Given the description of an element on the screen output the (x, y) to click on. 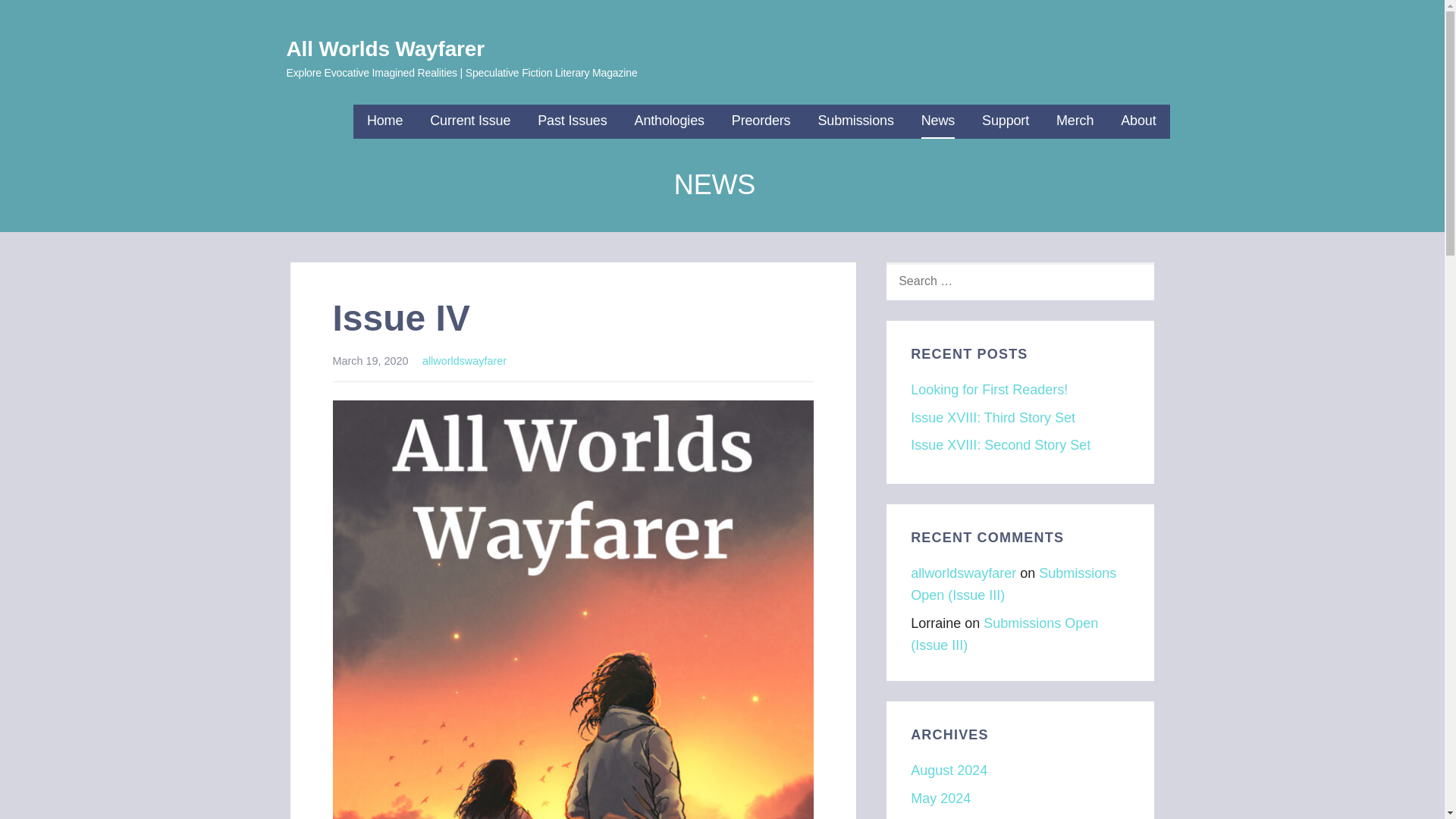
Issue XVIII: Second Story Set (1000, 444)
Submissions (854, 121)
All Worlds Wayfarer (385, 48)
Looking for First Readers! (989, 389)
Preorders (761, 121)
Home (384, 121)
Current Issue (470, 121)
Support (1005, 121)
Issue XVIII: Third Story Set (993, 417)
Anthologies (669, 121)
